Given the description of an element on the screen output the (x, y) to click on. 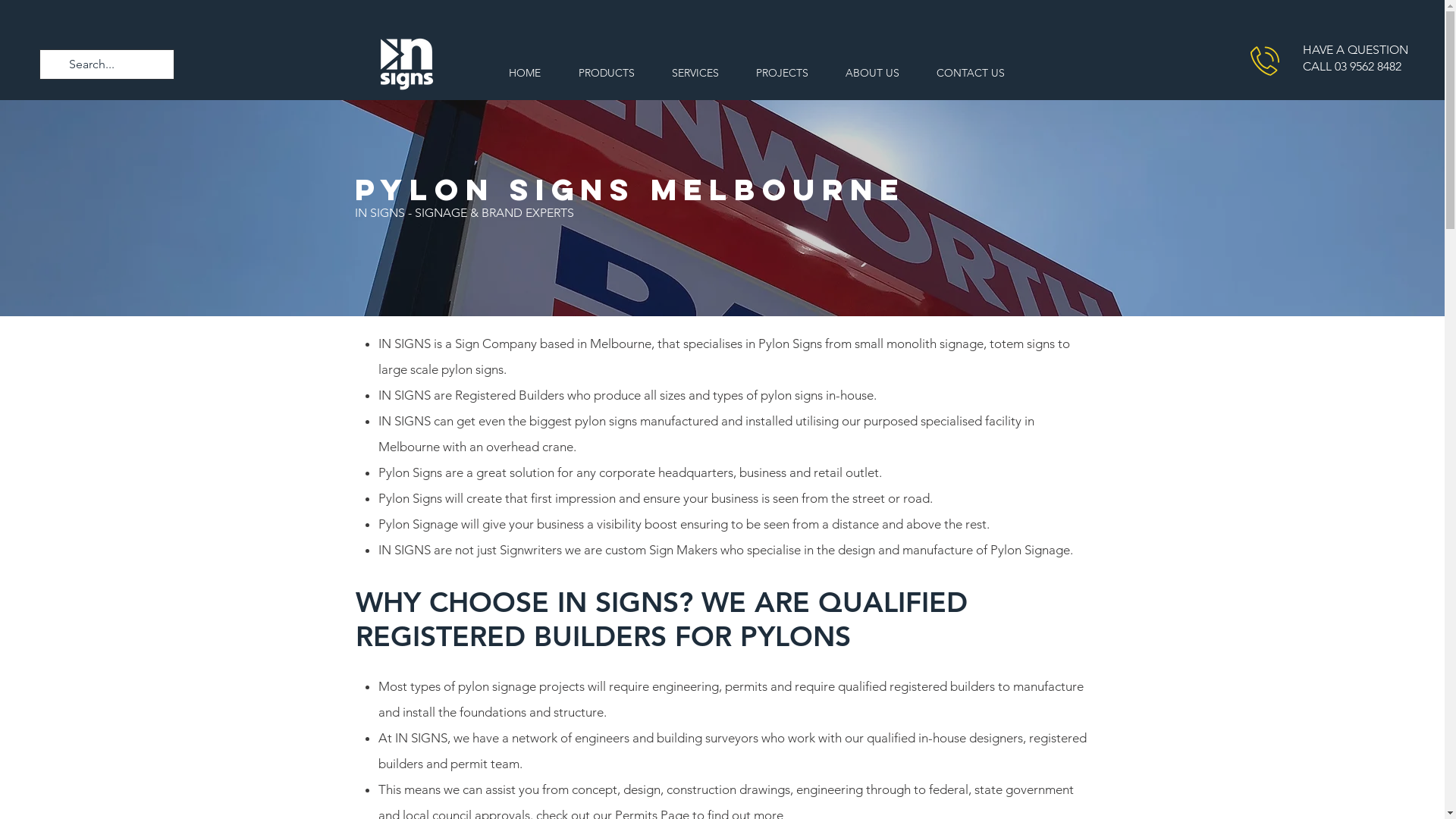
PROJECTS Element type: text (781, 73)
HAVE A QUESTION Element type: text (1355, 49)
CALL 03 9562 8482 Element type: text (1351, 66)
HOME Element type: text (524, 73)
CONTACT US Element type: text (969, 73)
SERVICES Element type: text (695, 73)
ABOUT US Element type: text (871, 73)
PRODUCTS Element type: text (606, 73)
